Given the description of an element on the screen output the (x, y) to click on. 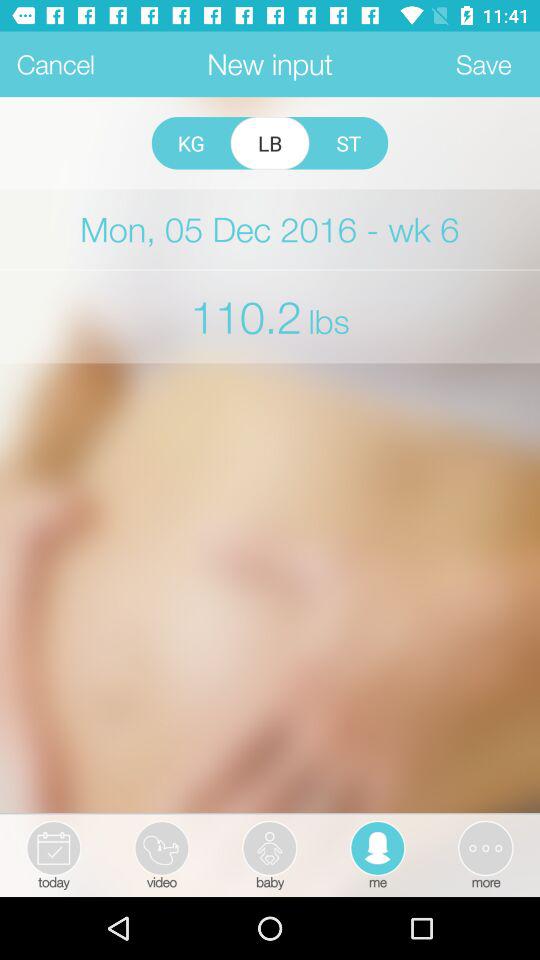
press app above mon 05 dec (348, 143)
